Given the description of an element on the screen output the (x, y) to click on. 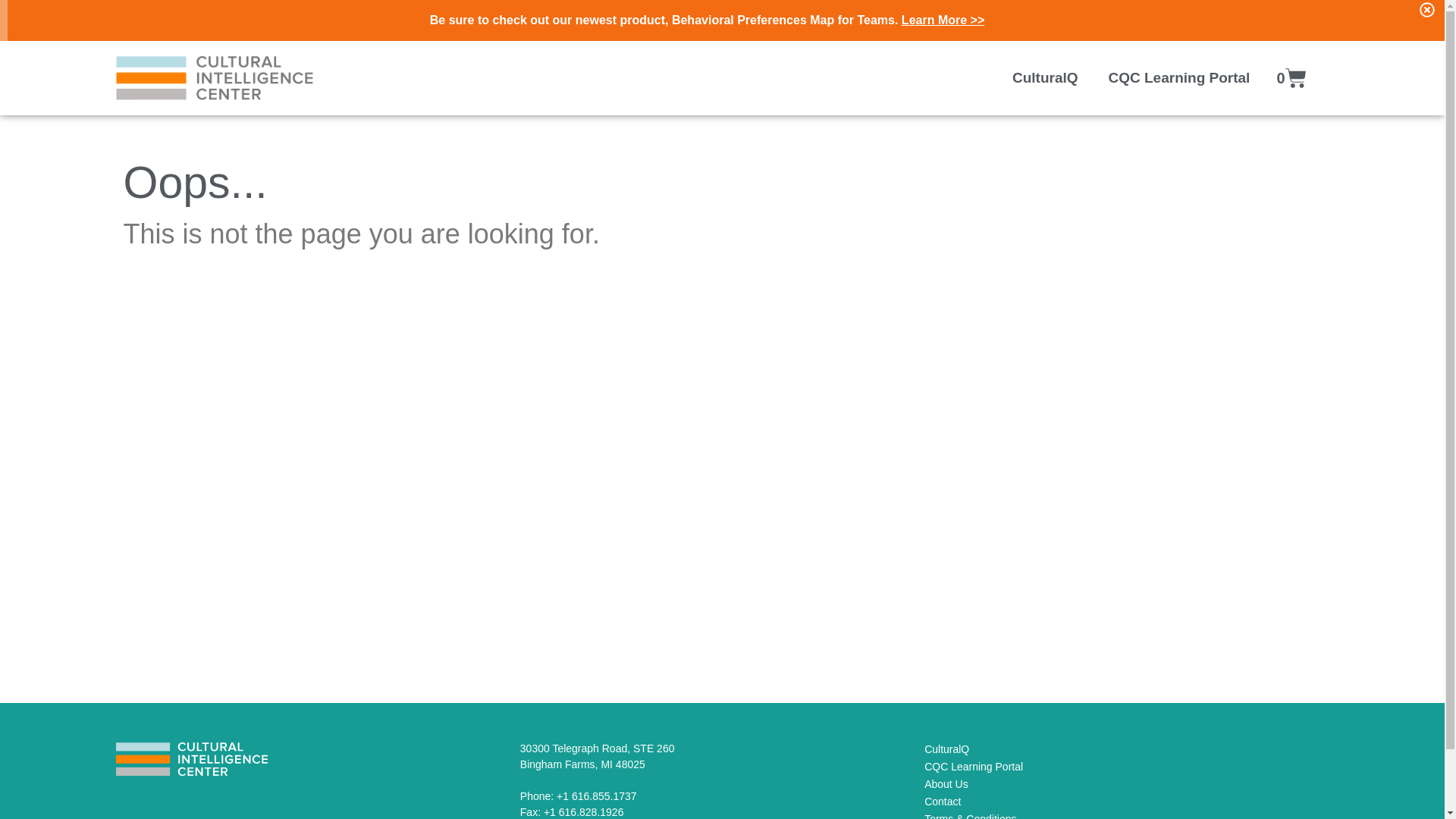
About Us (946, 784)
Contact (942, 801)
CulturalQ (1045, 77)
CulturalQ (946, 748)
CQC Learning Portal (597, 756)
CQC Learning Portal (1179, 77)
0 (973, 766)
